Given the description of an element on the screen output the (x, y) to click on. 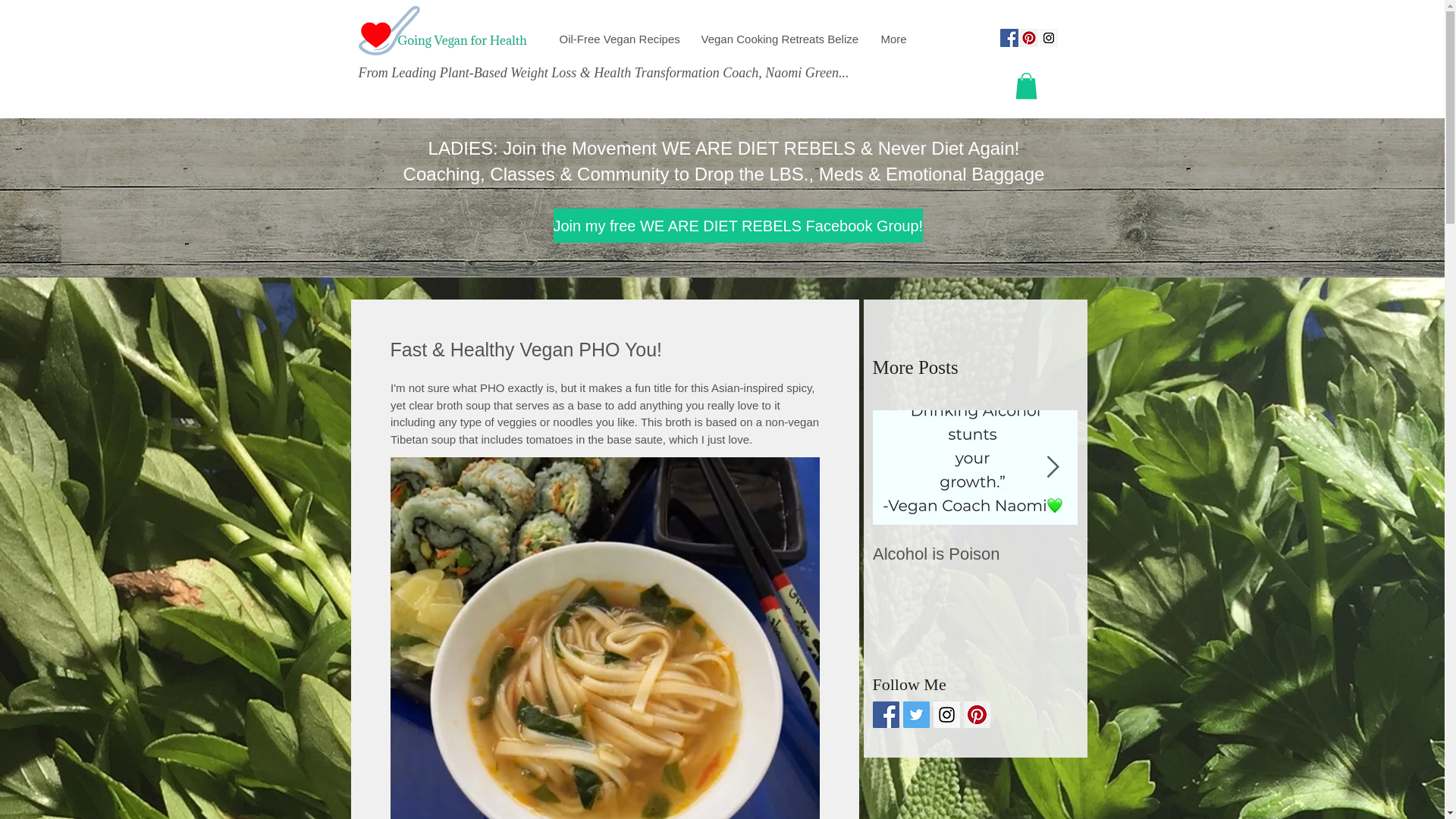
Join my free WE ARE DIET REBELS Facebook Group! (738, 225)
Oil-Free Vegan Recipes (617, 38)
Alcohol is Poison (974, 554)
Heal or Harm? (1179, 554)
Vegan Cooking Retreats Belize (779, 38)
